Given the description of an element on the screen output the (x, y) to click on. 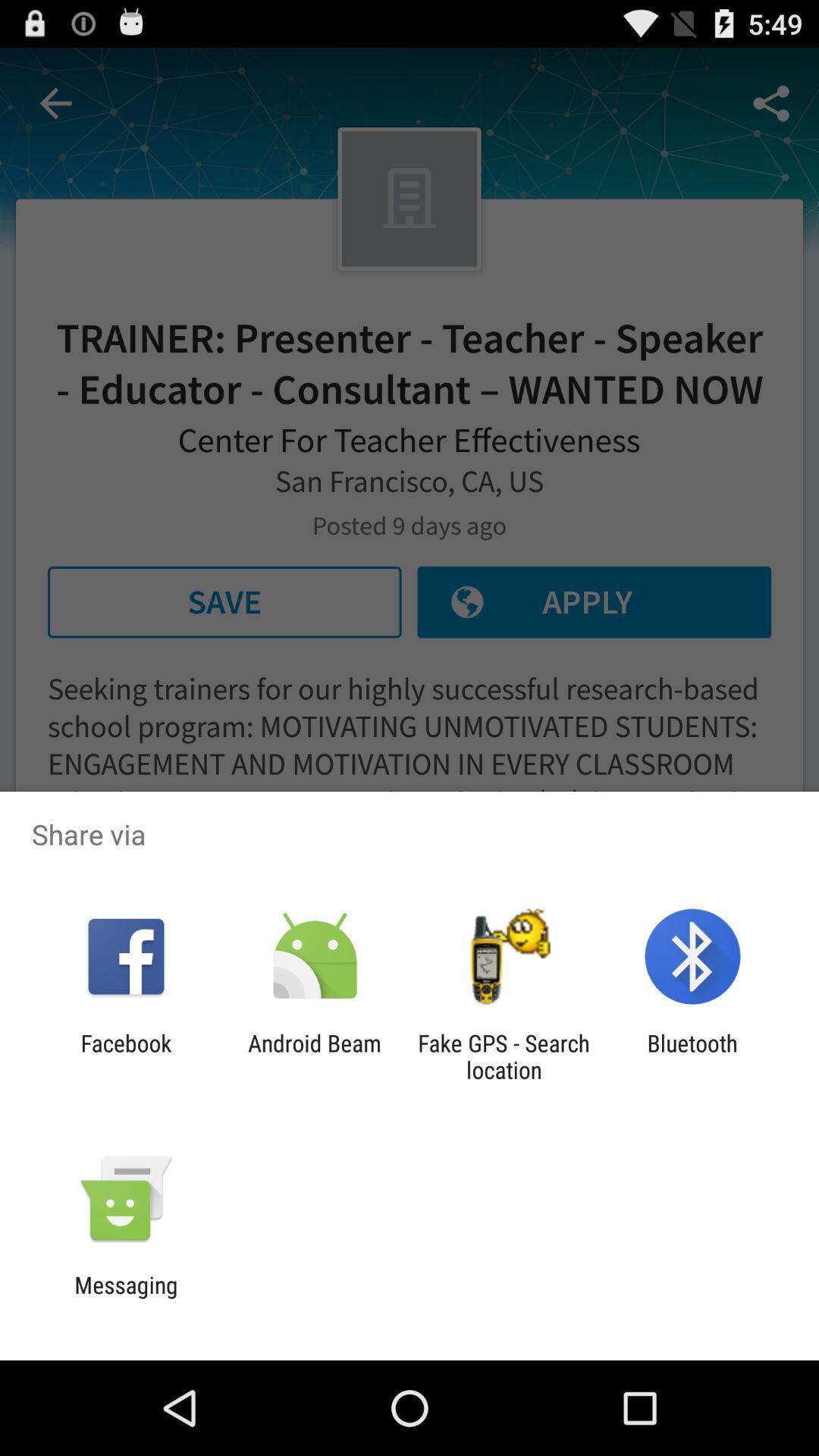
swipe to the bluetooth item (692, 1056)
